Given the description of an element on the screen output the (x, y) to click on. 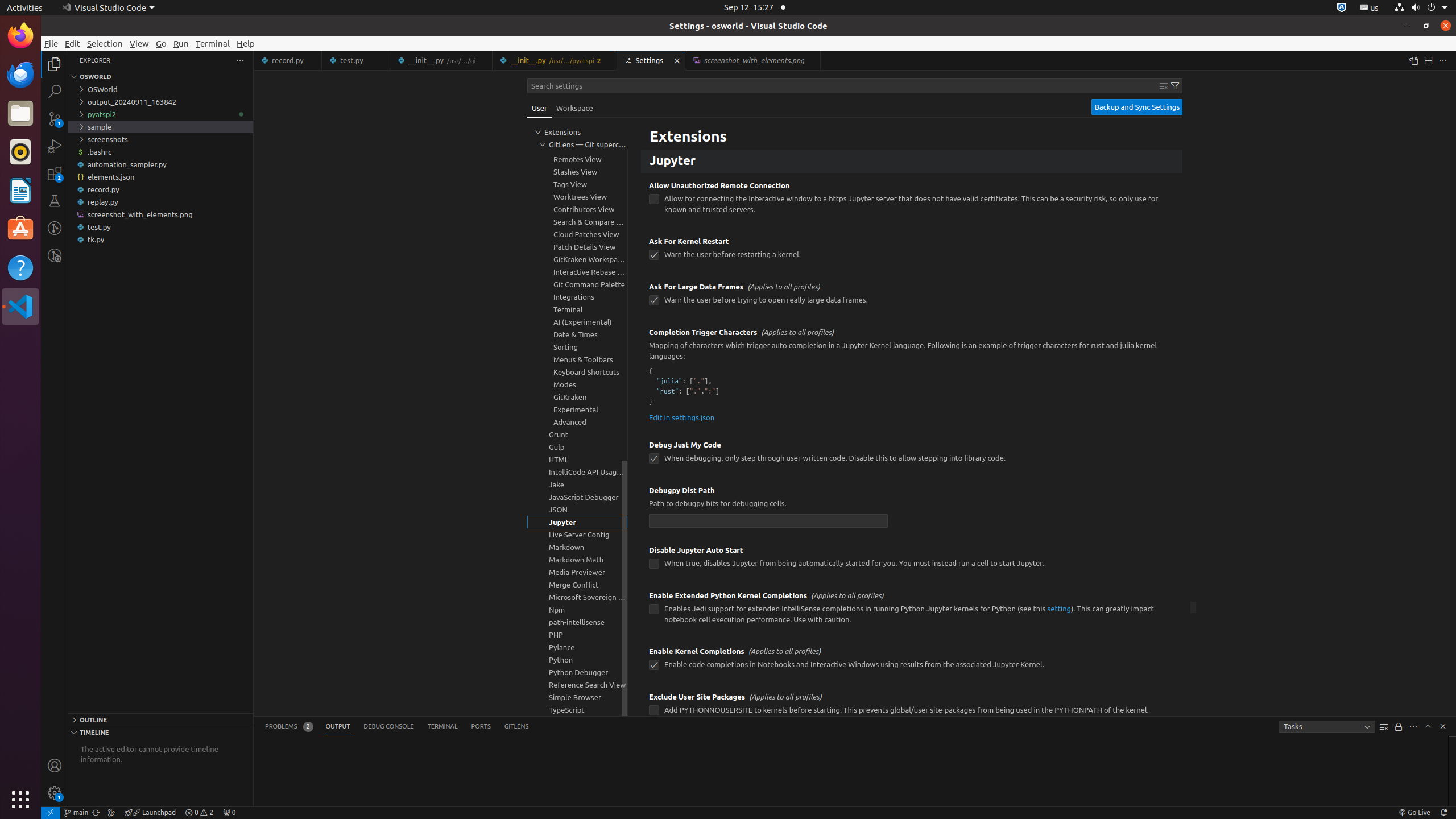
Contributors View, group Element type: tree-item (577, 209)
Live Server Config, group Element type: tree-item (577, 534)
Media Previewer, group Element type: tree-item (577, 571)
GitLens Inspect Element type: page-tab (54, 255)
Terminal Element type: push-button (212, 43)
